Given the description of an element on the screen output the (x, y) to click on. 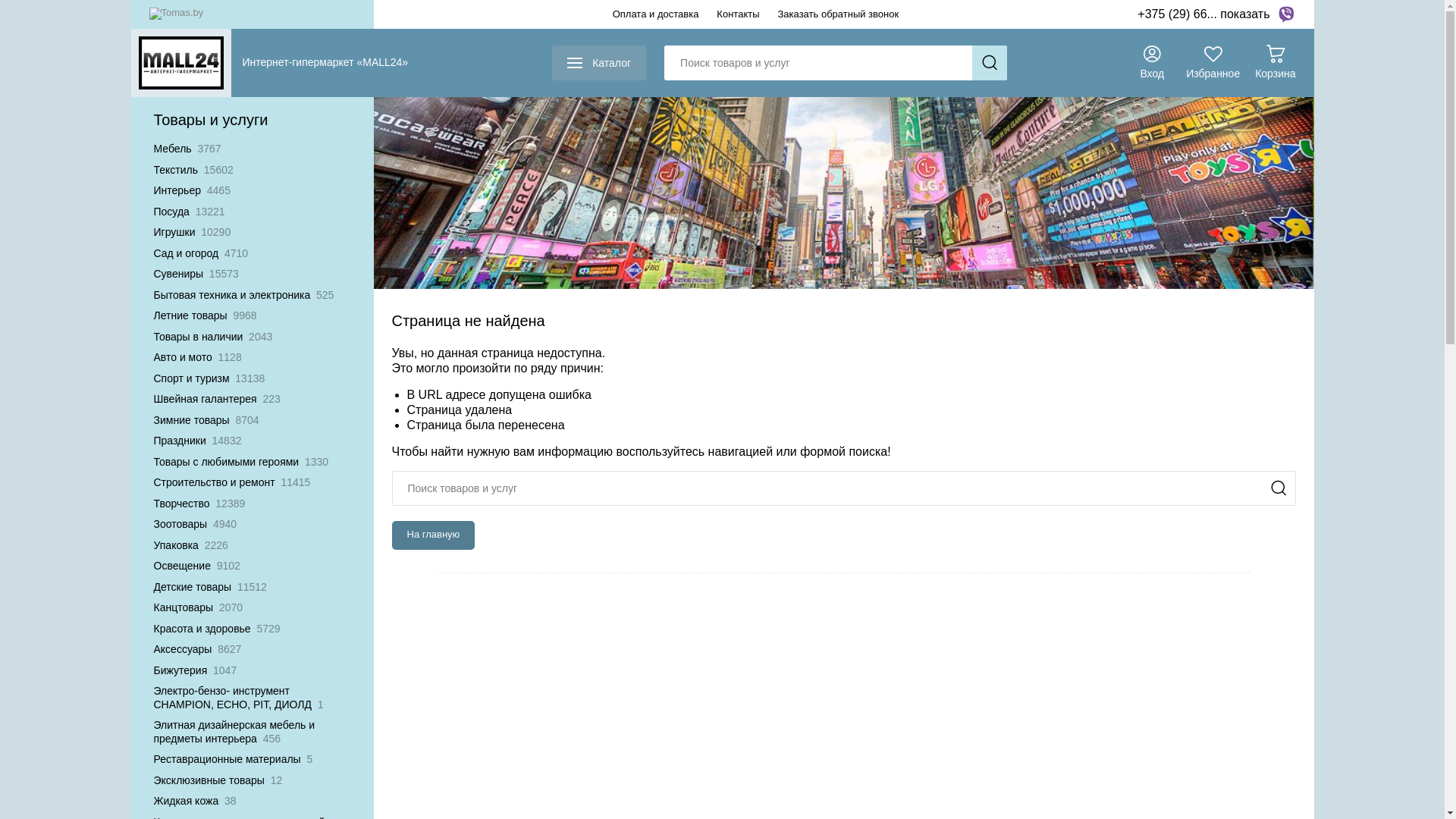
Viber Element type: hover (1286, 14)
